Given the description of an element on the screen output the (x, y) to click on. 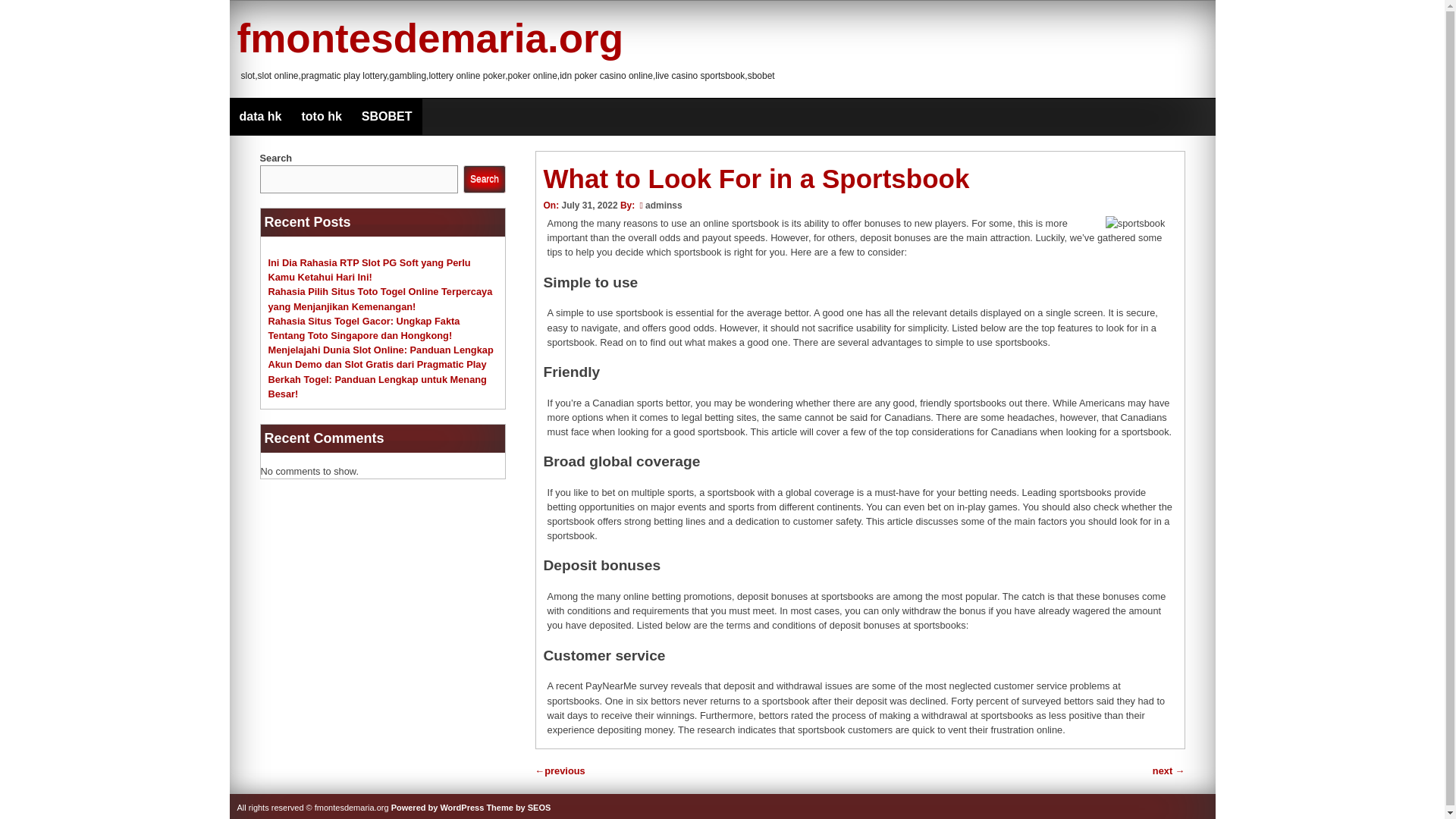
SBOBET (387, 116)
Powered by WordPress (437, 807)
toto hk (322, 116)
Seos free wordpress themes (518, 807)
data hk (259, 116)
Berkah Togel: Panduan Lengkap untuk Menang Besar! (376, 385)
Theme by SEOS (518, 807)
Search (484, 179)
July 31, 2022 (588, 204)
fmontesdemaria.org (429, 37)
adminss (663, 204)
